Given the description of an element on the screen output the (x, y) to click on. 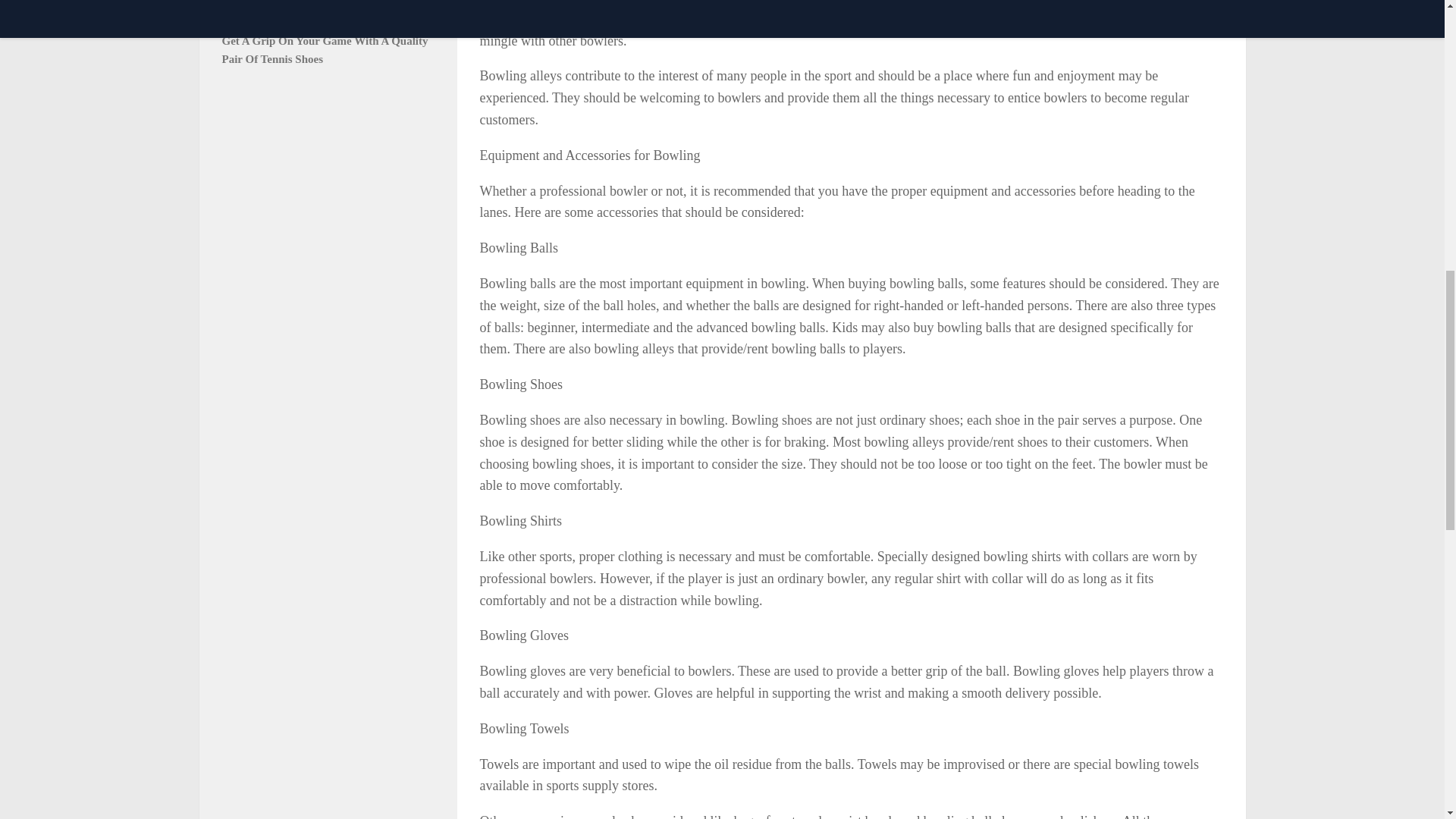
Discount Wedding Accessories: What You Need To Know (322, 14)
Get A Grip On Your Game With A Quality Pair Of Tennis Shoes (324, 50)
